Given the description of an element on the screen output the (x, y) to click on. 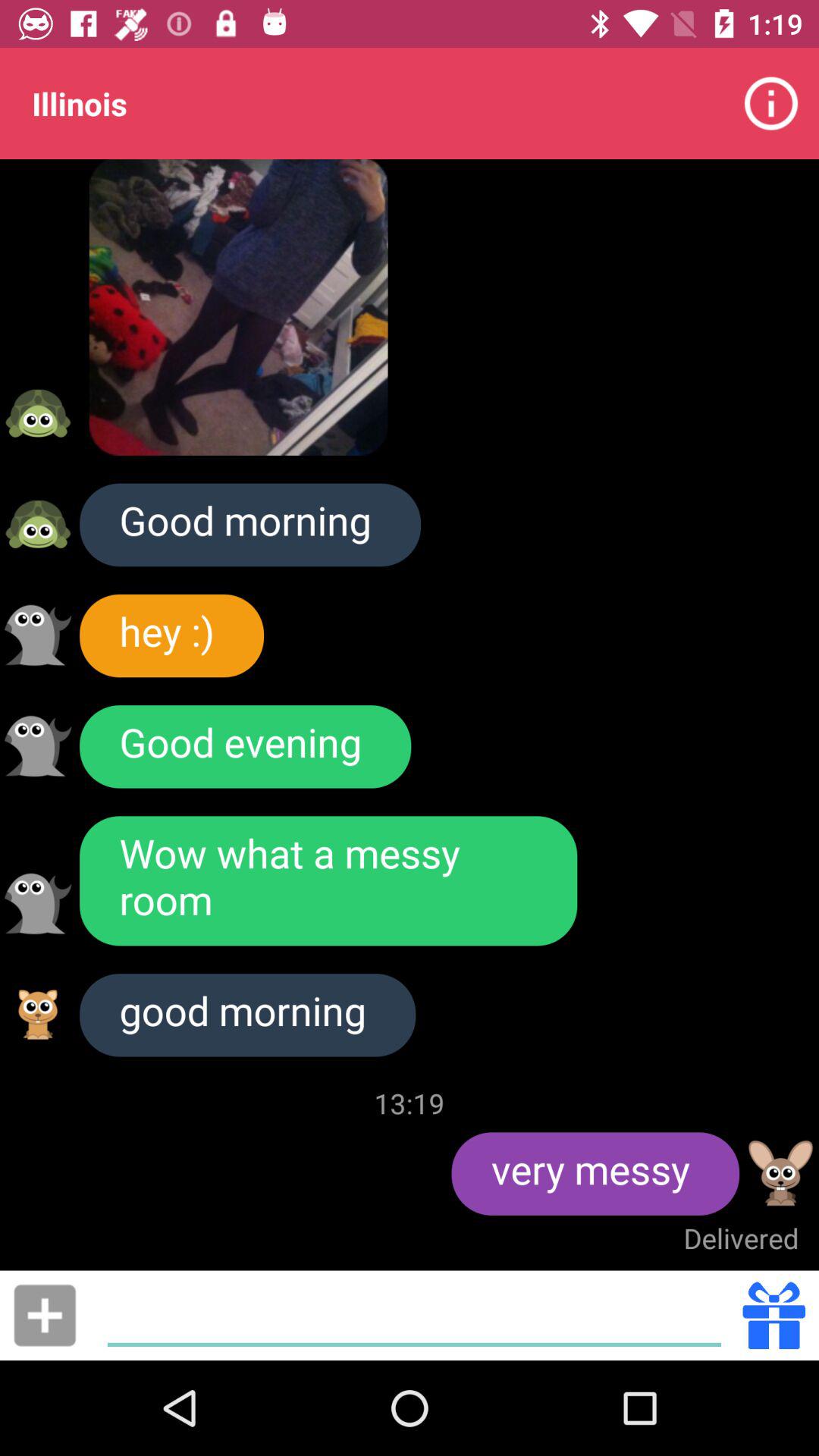
flip until the very messy  item (595, 1173)
